Given the description of an element on the screen output the (x, y) to click on. 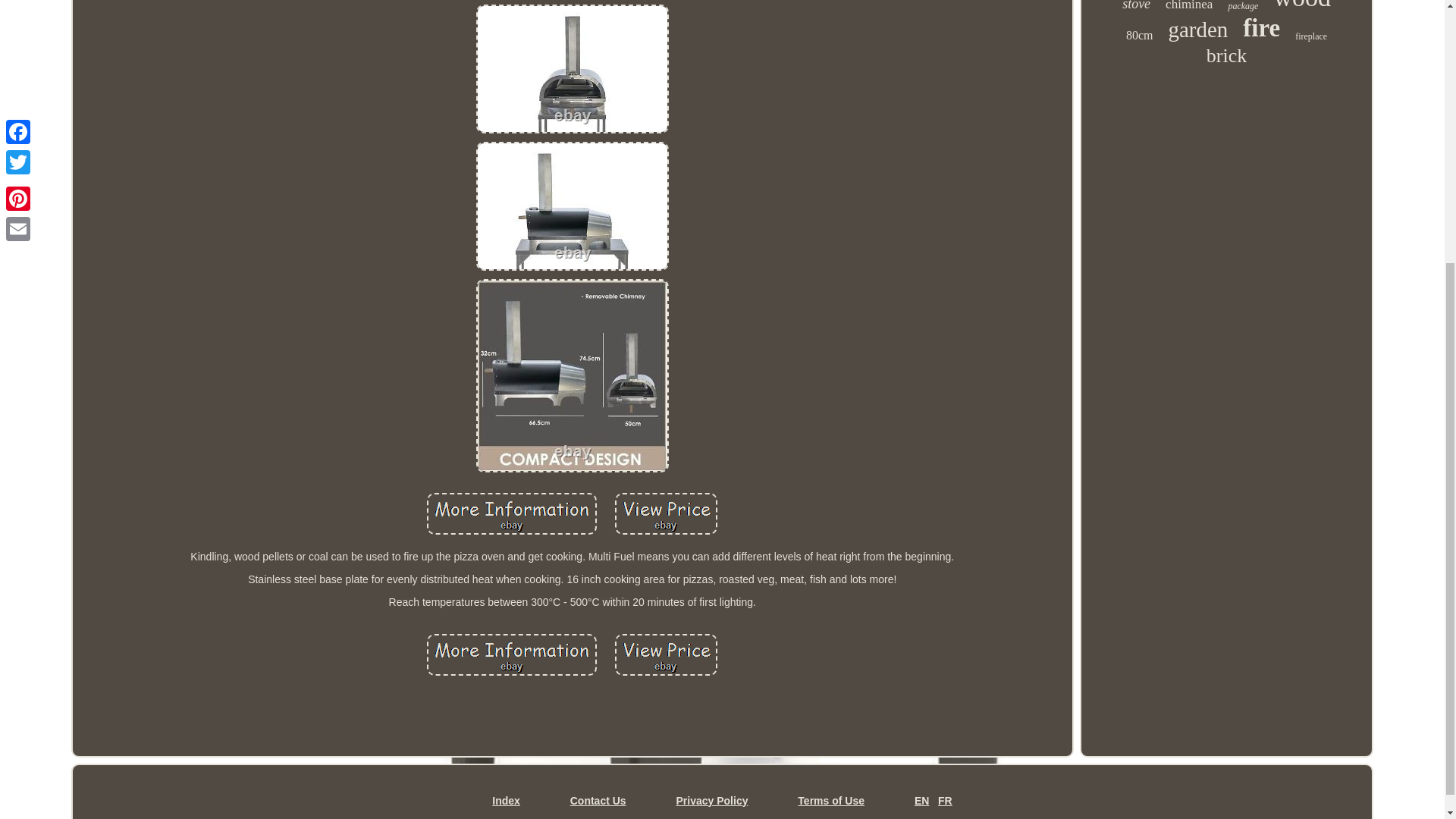
Char out Doors Wood fired pizza oven No 16 (665, 513)
Char out Doors Wood fired pizza oven No 16 (572, 375)
Char out Doors Wood fired pizza oven No 16 (665, 654)
Char out Doors Wood fired pizza oven No 16 (511, 654)
Char out Doors Wood fired pizza oven No 16 (572, 68)
Char out Doors Wood fired pizza oven No 16 (511, 513)
Char out Doors Wood fired pizza oven No 16 (572, 205)
